Given the description of an element on the screen output the (x, y) to click on. 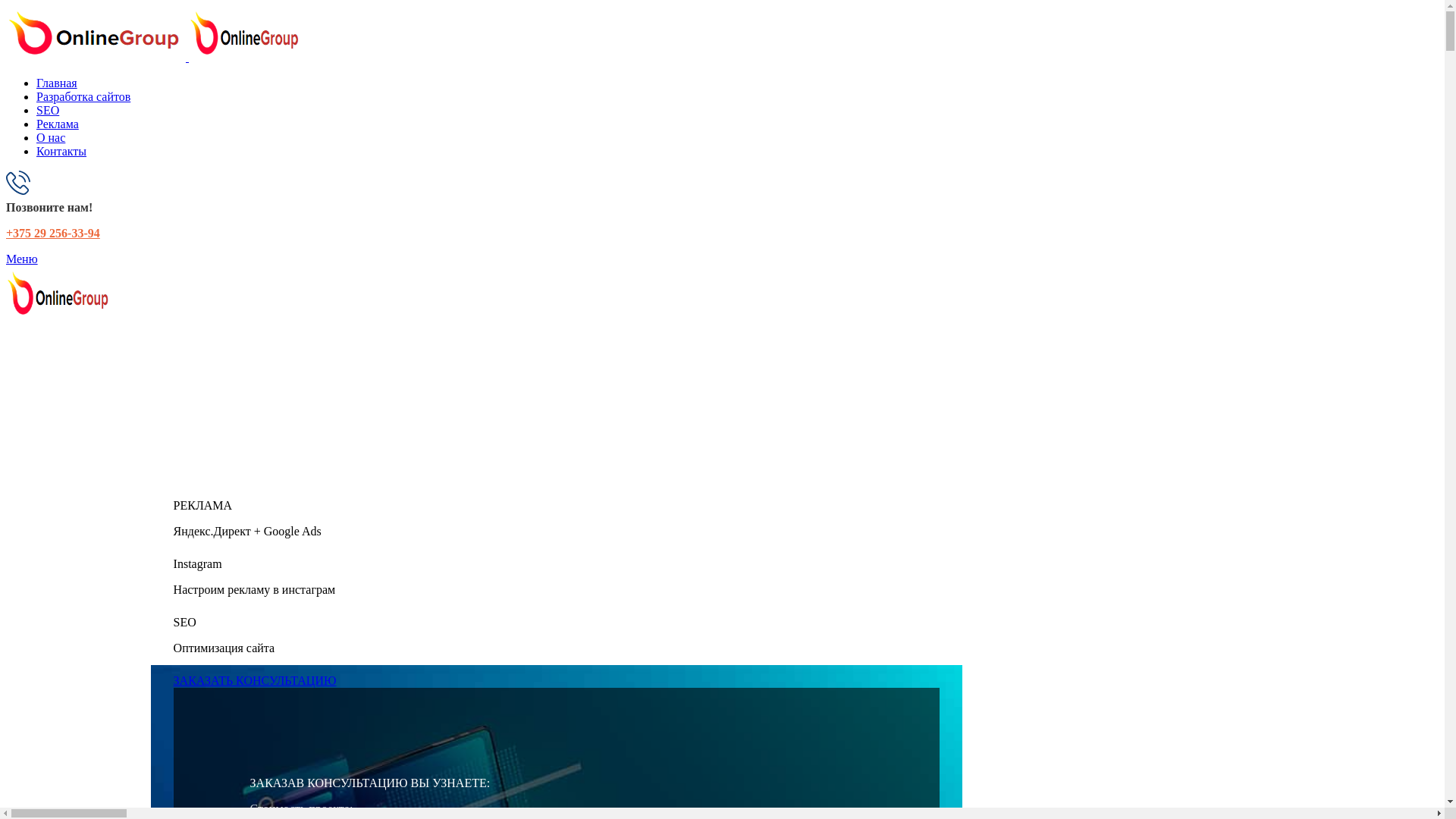
SEO Element type: text (47, 109)
+375 29 256-33-94 Element type: text (53, 232)
